Given the description of an element on the screen output the (x, y) to click on. 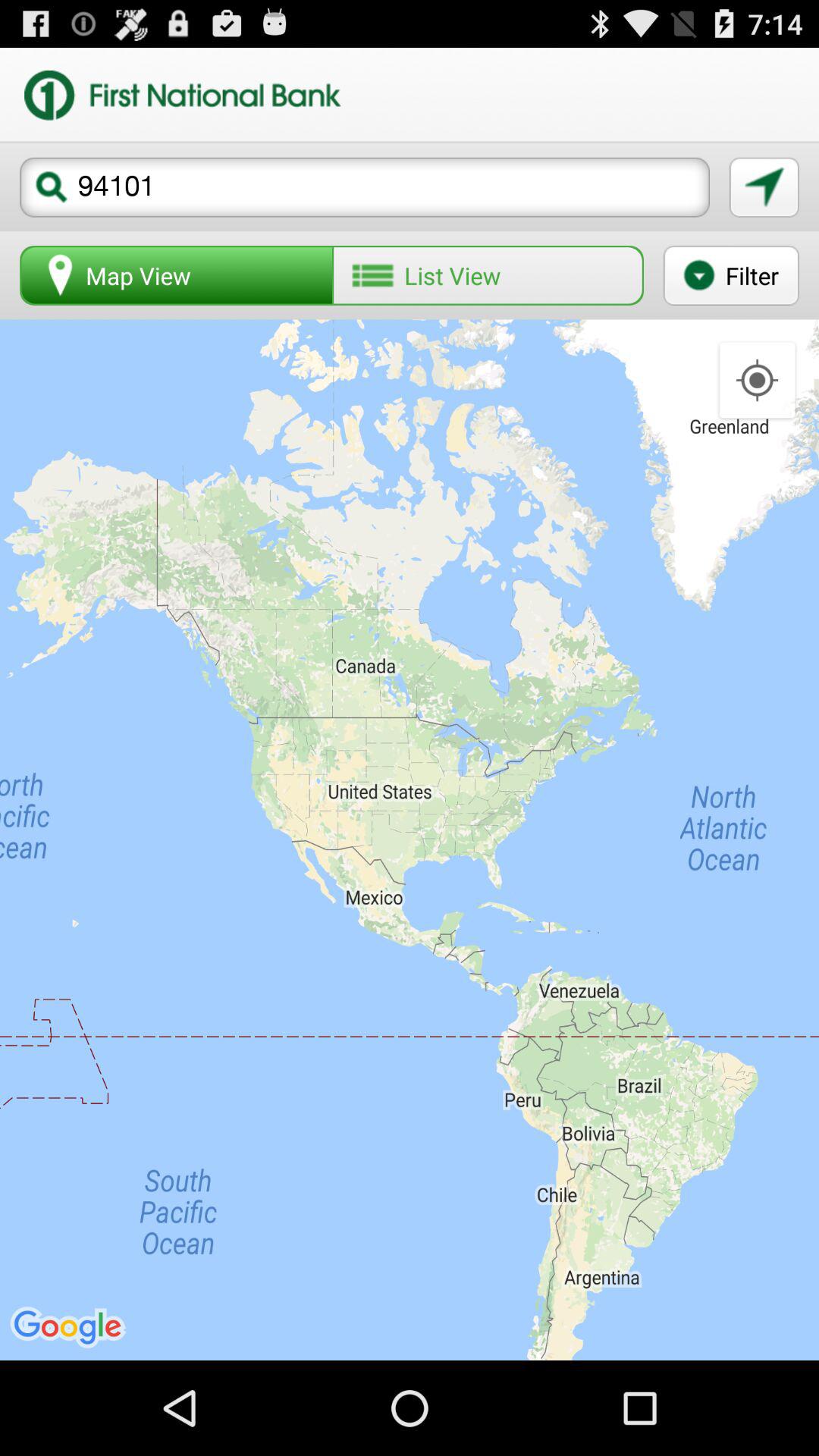
flip to the map view button (176, 275)
